Given the description of an element on the screen output the (x, y) to click on. 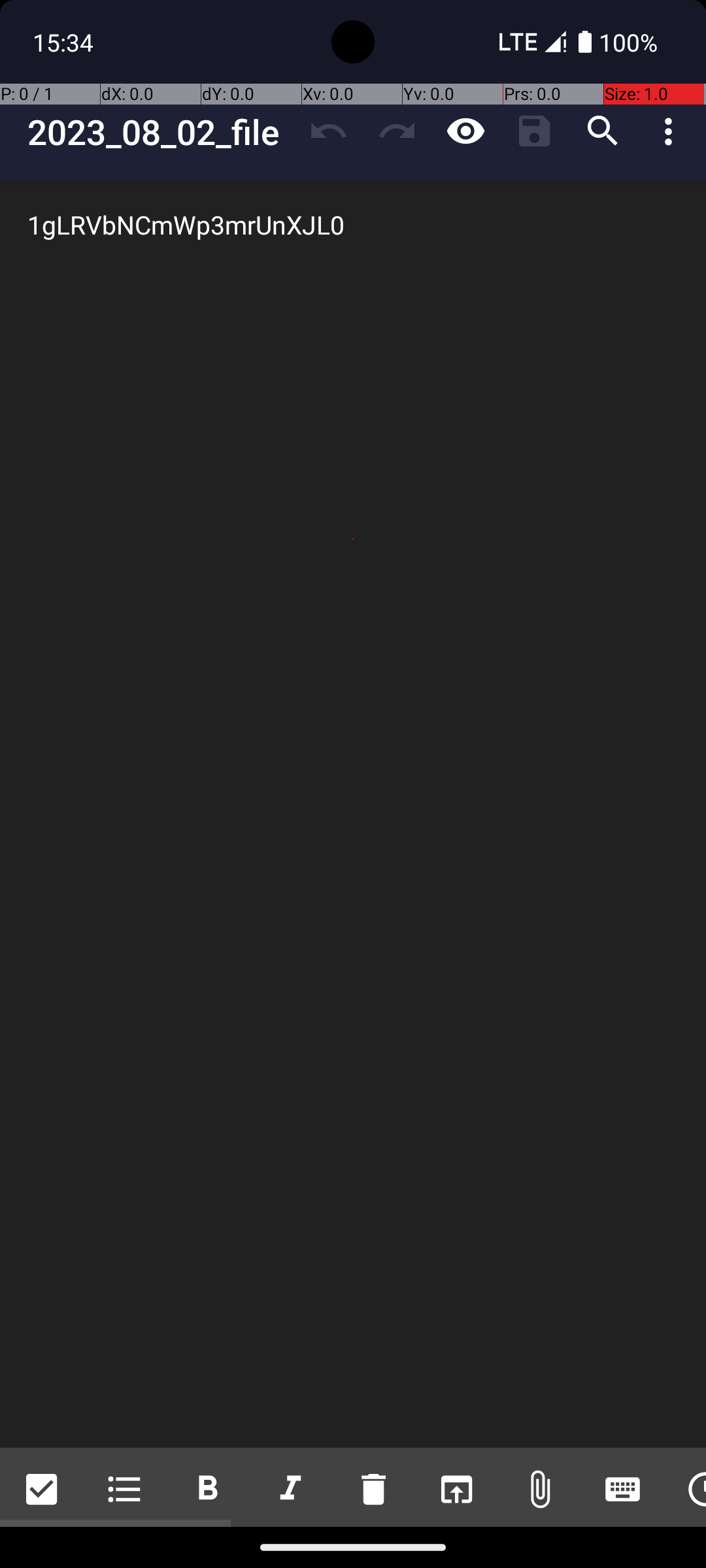
2023_08_02_file Element type: android.widget.TextView (160, 131)
1gLRVbNCmWp3mrUnXJL0
 Element type: android.widget.EditText (353, 813)
